Given the description of an element on the screen output the (x, y) to click on. 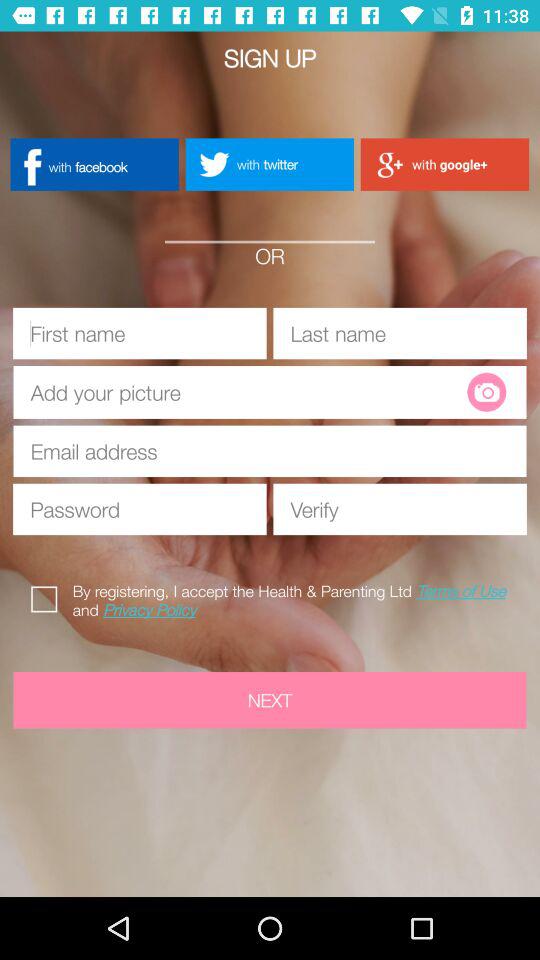
upload a picture of your baby (486, 392)
